Given the description of an element on the screen output the (x, y) to click on. 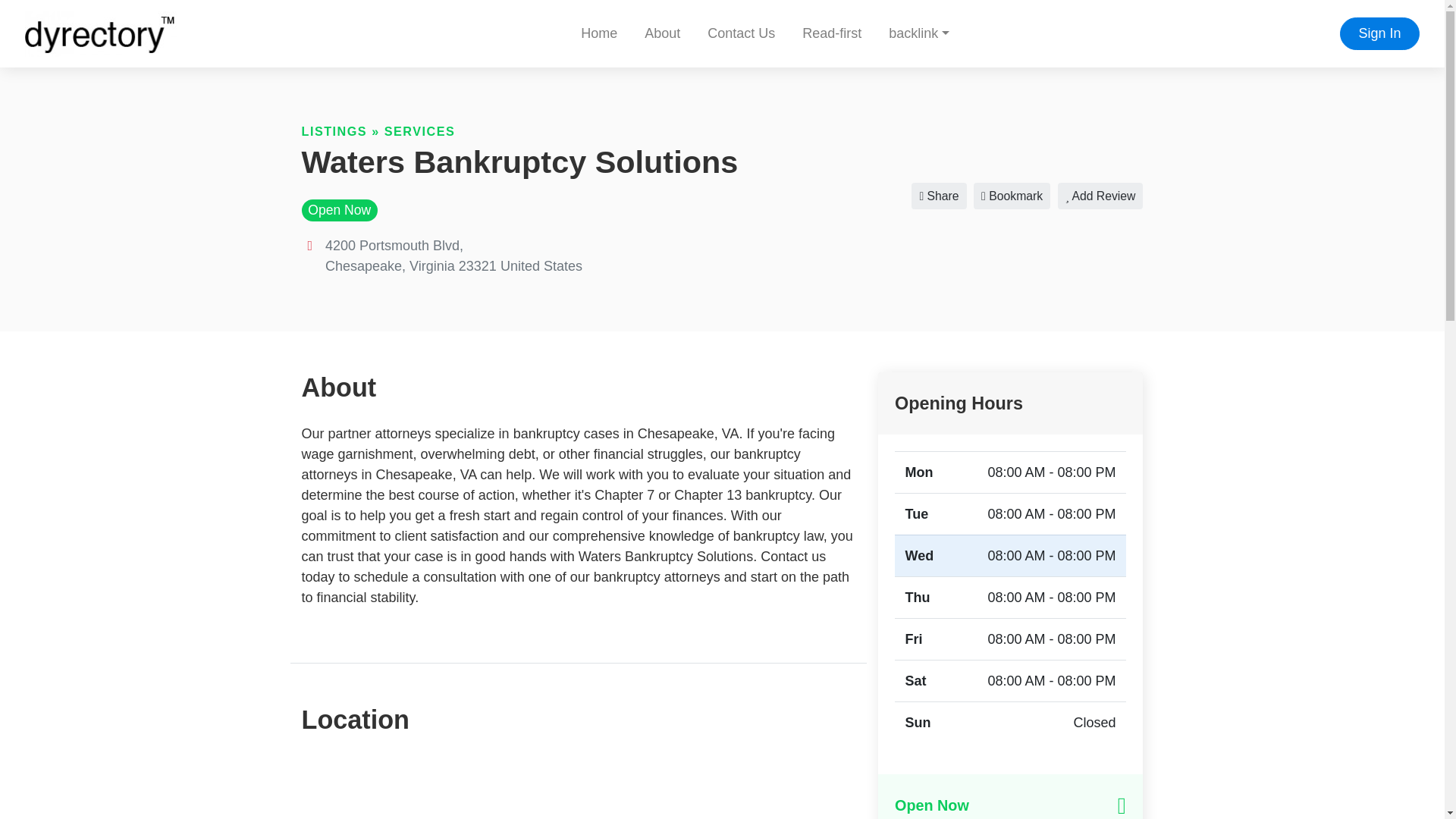
Read-first (832, 33)
SERVICES (419, 131)
Contact Us (741, 33)
Sign In (1379, 33)
Add Review (1100, 195)
Home (598, 33)
backlink (918, 33)
LISTINGS (334, 131)
Bookmark (1011, 195)
About (662, 33)
